Given the description of an element on the screen output the (x, y) to click on. 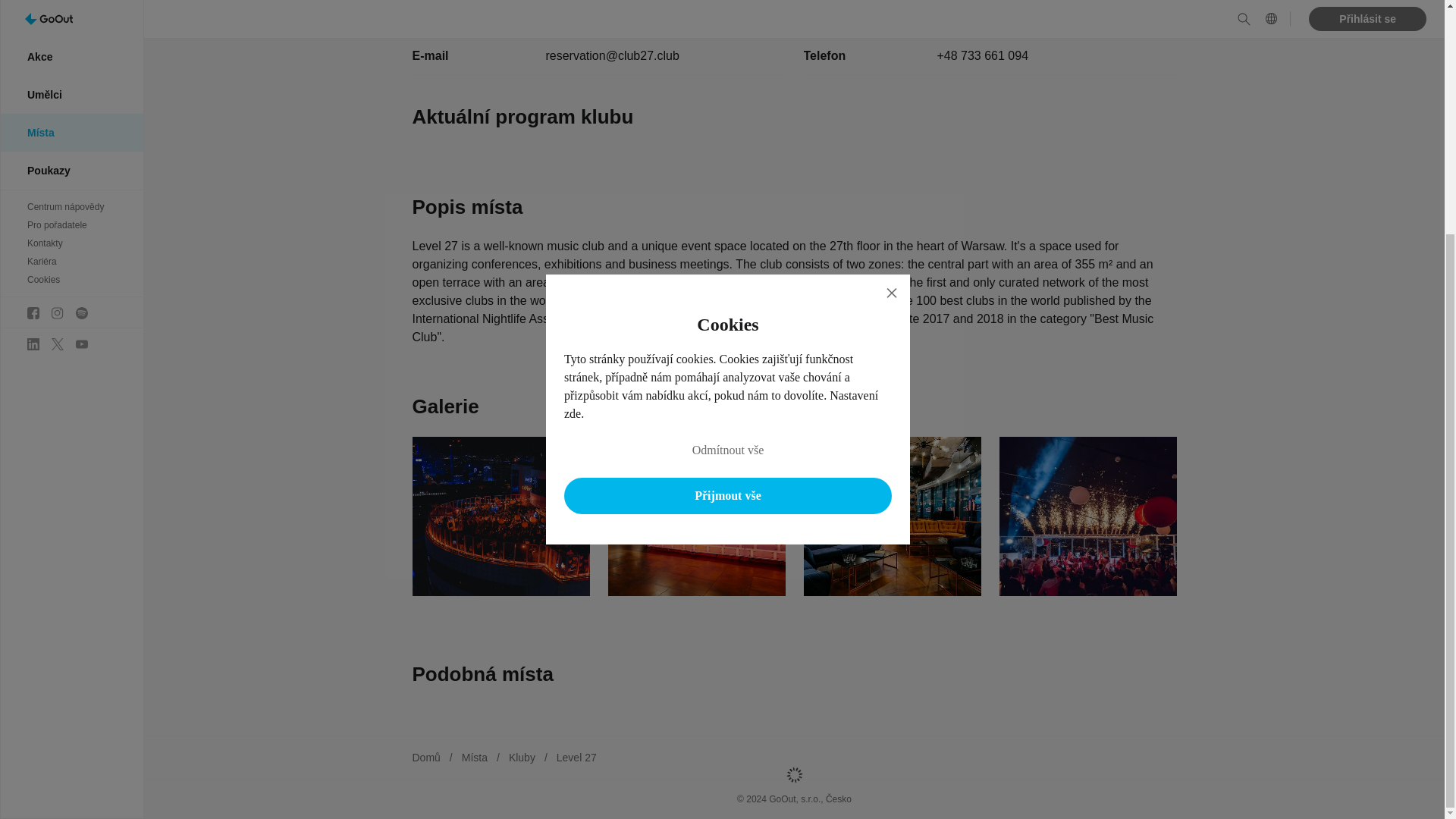
www.level27.pl (976, 18)
Kluby (521, 757)
Level 27 (576, 757)
